Given the description of an element on the screen output the (x, y) to click on. 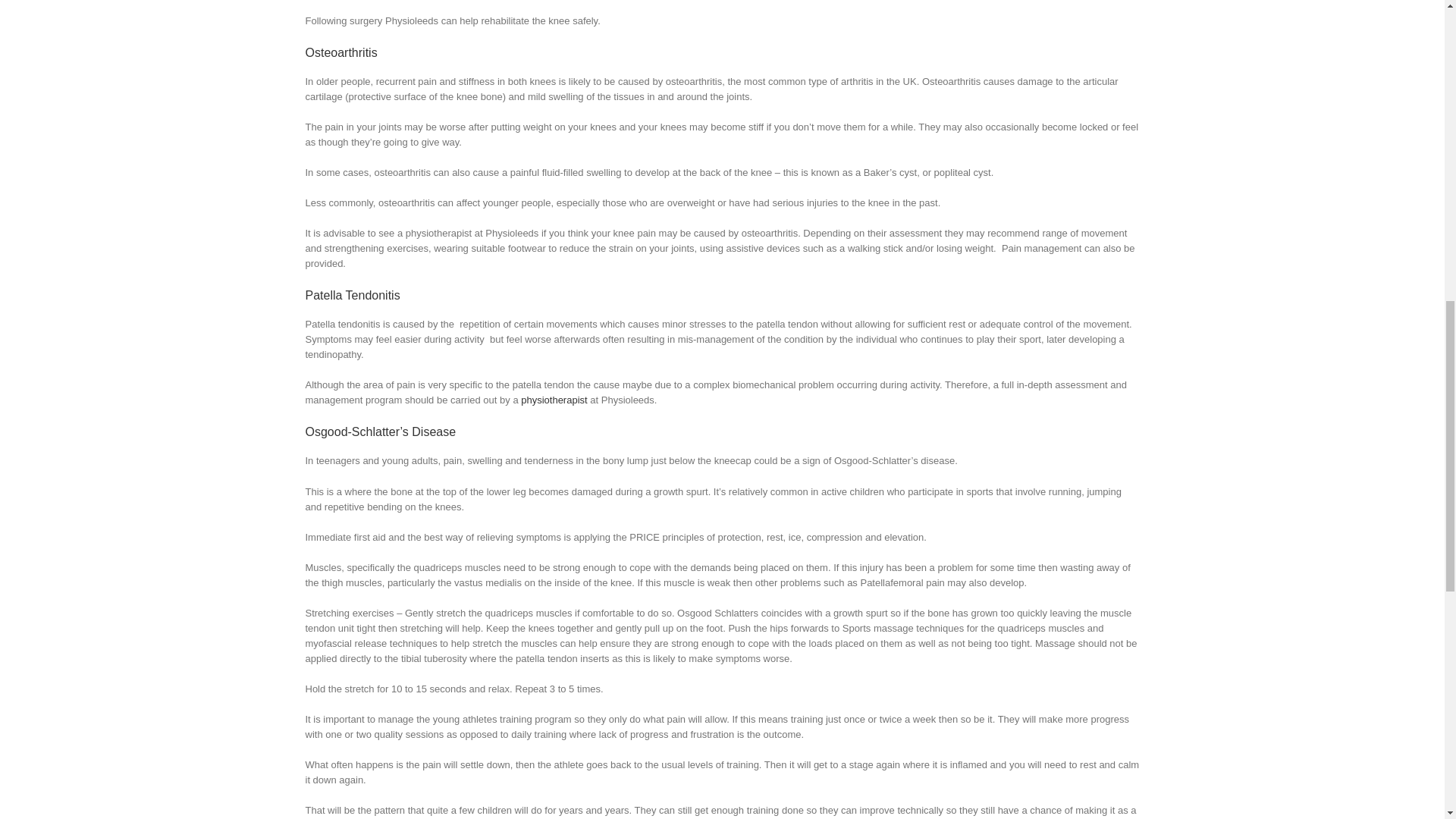
physiotherapist (553, 399)
